Given the description of an element on the screen output the (x, y) to click on. 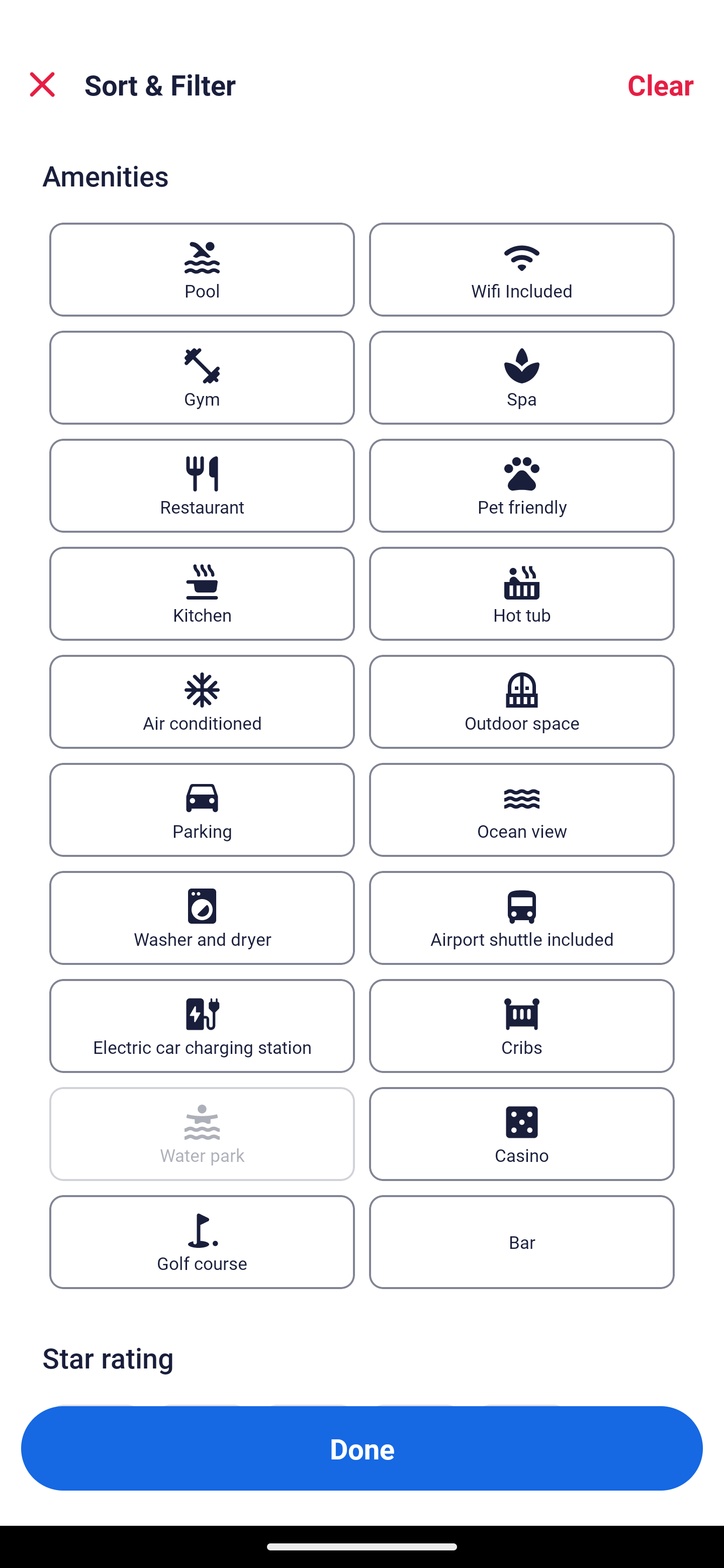
Close Sort and Filter (42, 84)
Clear (660, 84)
Pool (201, 269)
Wifi Included (521, 269)
Gym (201, 377)
Spa (521, 377)
Restaurant (201, 486)
Pet friendly (521, 486)
Kitchen (201, 594)
Hot tub (521, 594)
Air conditioned (201, 702)
Outdoor space (521, 702)
Parking (201, 809)
Ocean view (521, 809)
Washer and dryer (201, 917)
Airport shuttle included (521, 917)
Electric car charging station (201, 1025)
Cribs (521, 1025)
Water park (201, 1133)
Casino (521, 1133)
Golf course (201, 1241)
Bar (521, 1241)
Apply and close Sort and Filter Done (361, 1448)
